Given the description of an element on the screen output the (x, y) to click on. 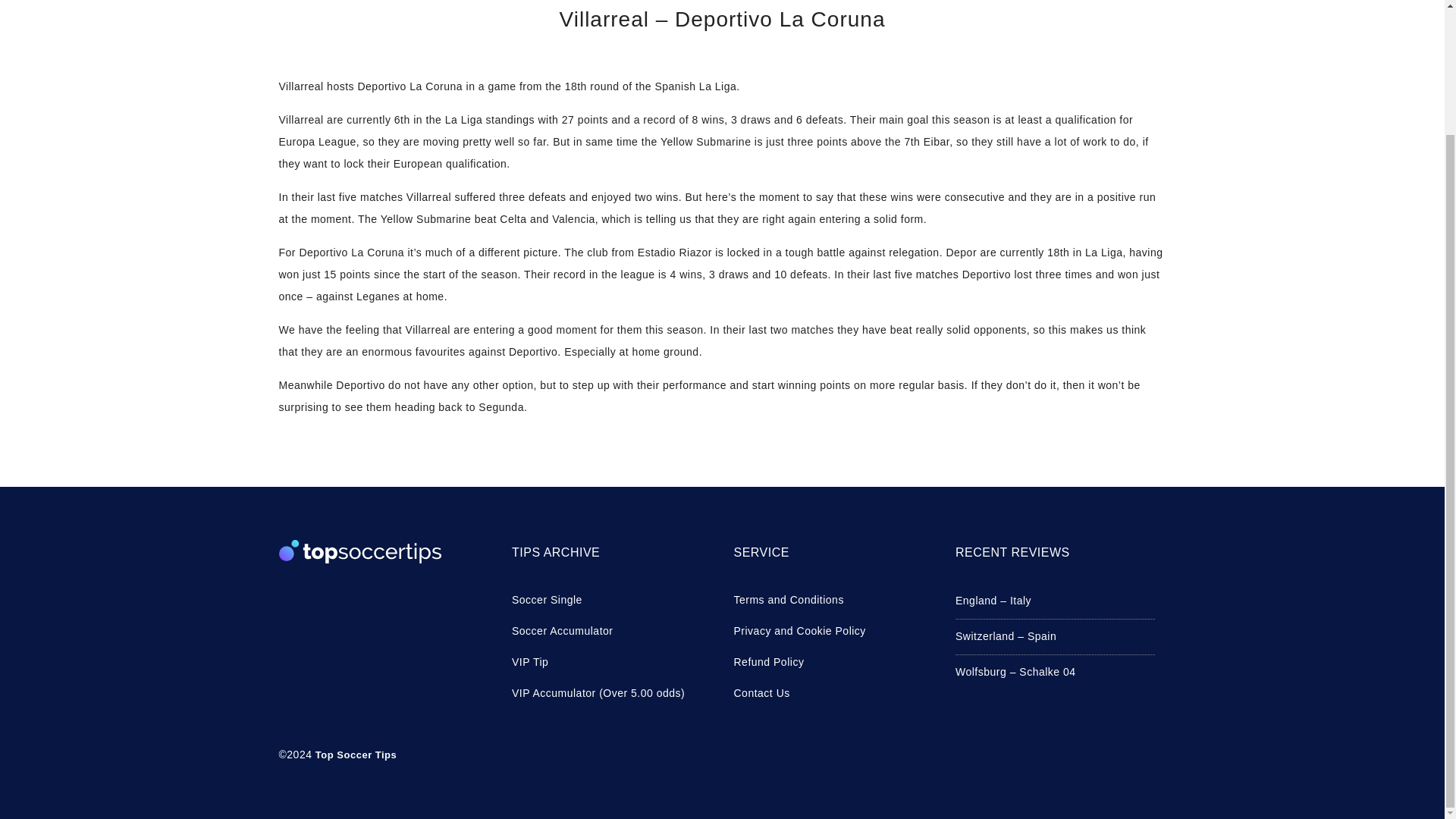
VIP Tip (611, 662)
Refund Policy (833, 662)
Top Soccer Tips (355, 754)
Soccer Accumulator (611, 630)
Soccer Single (611, 599)
Privacy and Cookie Policy (833, 630)
Terms and Conditions (833, 599)
Top Soccer Tips (355, 754)
Contact Us (833, 693)
